Given the description of an element on the screen output the (x, y) to click on. 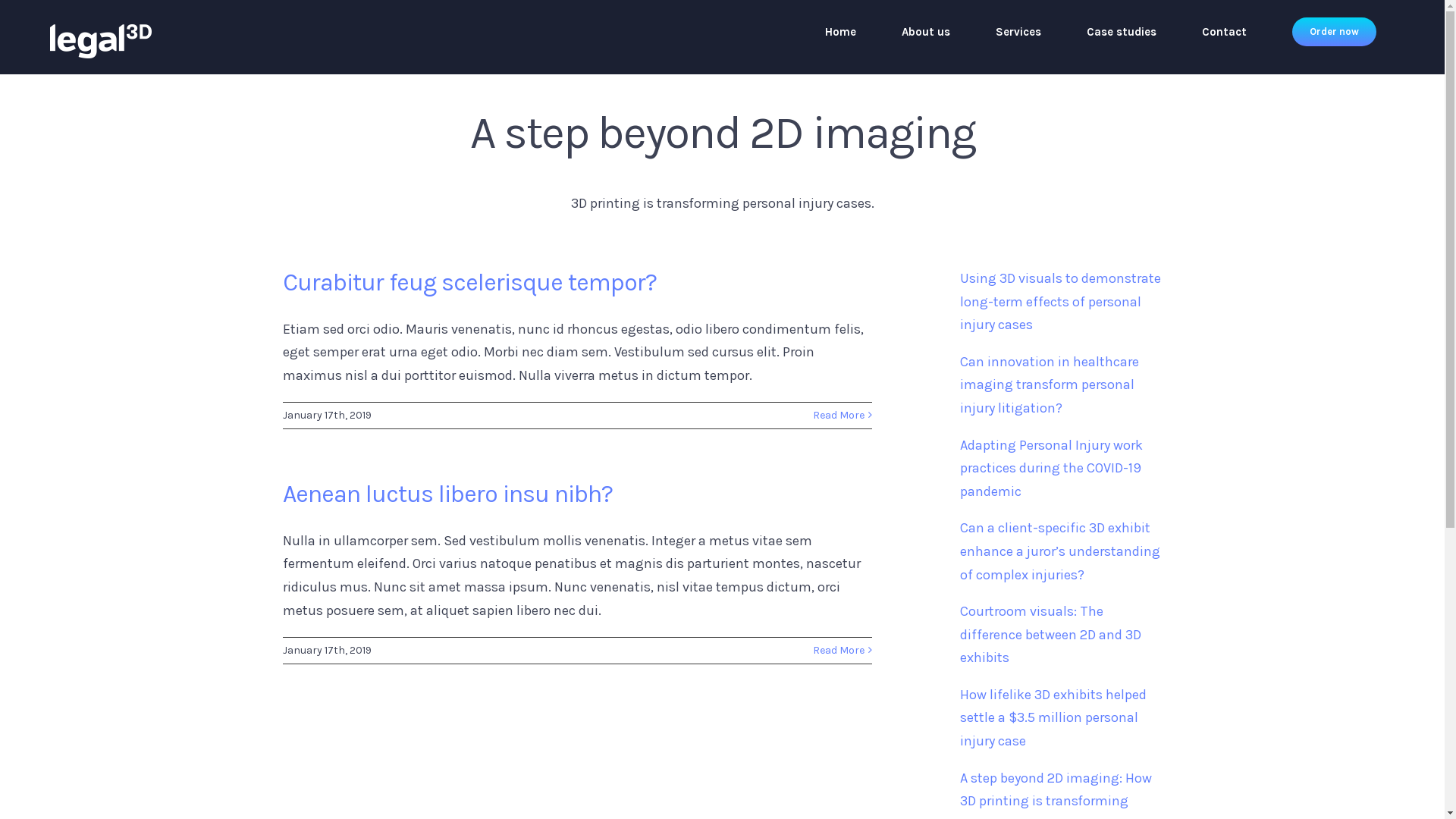
Read More Element type: text (838, 650)
Case studies Element type: text (1121, 31)
Home Element type: text (840, 31)
Order now Element type: text (1334, 31)
Aenean luctus libero insu nibh? Element type: text (446, 494)
Read More Element type: text (838, 415)
Services Element type: text (1018, 31)
Curabitur feug scelerisque tempor? Element type: text (468, 282)
About us Element type: text (925, 31)
Courtroom visuals: The difference between 2D and 3D exhibits Element type: text (1050, 633)
Contact Element type: text (1223, 31)
